Given the description of an element on the screen output the (x, y) to click on. 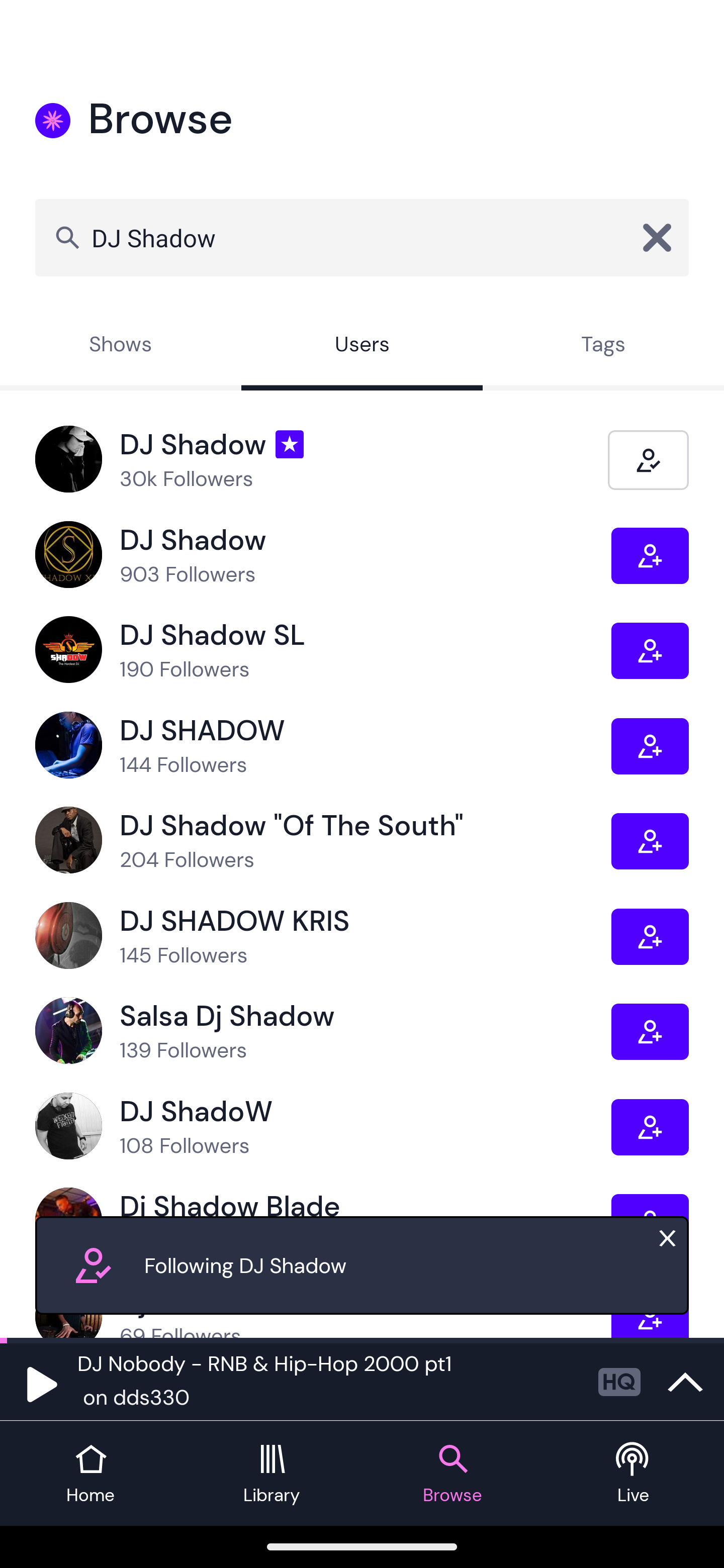
DJ Shadow (361, 237)
Shows (120, 346)
Users (361, 346)
Tags (603, 346)
DJ Shadow, 30k Followers DJ Shadow 30k Followers (321, 458)
Following (648, 459)
DJ Shadow, 903 Followers DJ Shadow 903 Followers (323, 554)
Follow (649, 555)
Follow (649, 650)
DJ SHADOW, 144 Followers DJ SHADOW 144 Followers (323, 745)
Follow (649, 746)
Follow (649, 840)
Follow (649, 935)
Follow (649, 1031)
DJ ShadoW, 108 Followers DJ ShadoW 108 Followers (323, 1126)
Follow (649, 1127)
Home tab Home (90, 1473)
Library tab Library (271, 1473)
Browse tab Browse (452, 1473)
Live tab Live (633, 1473)
